Given the description of an element on the screen output the (x, y) to click on. 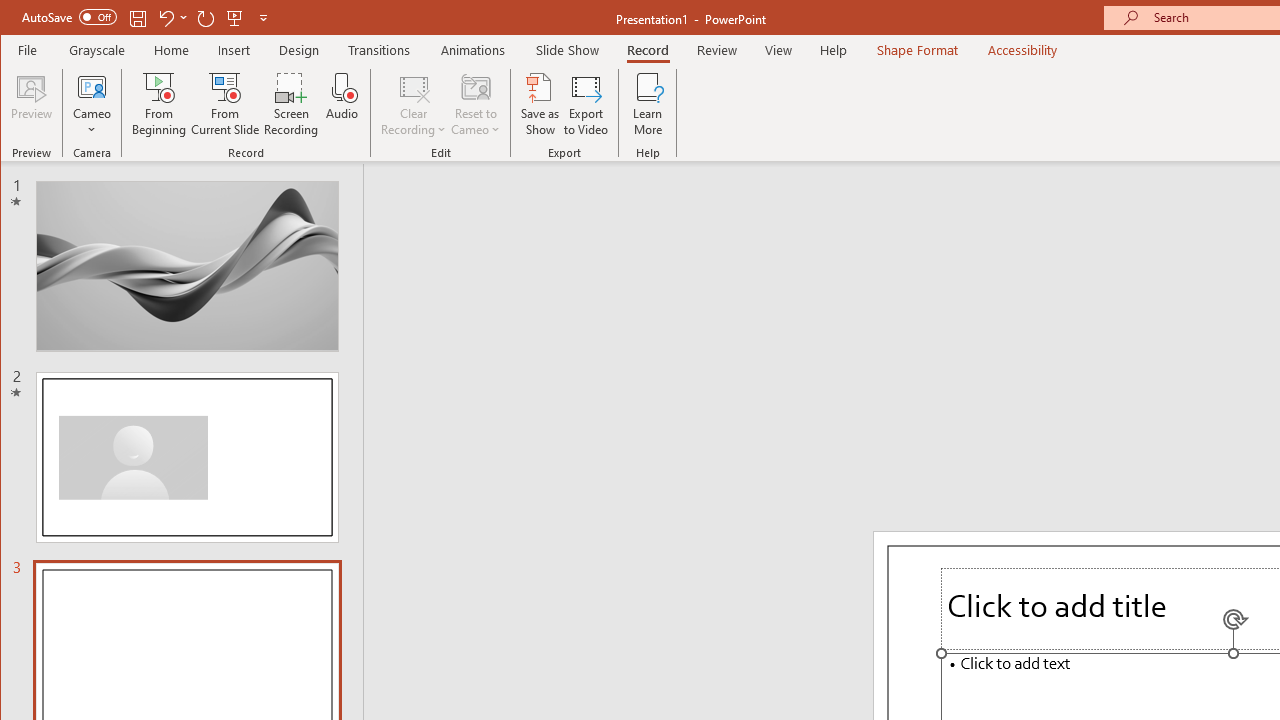
Screen Recording (291, 104)
Learn More (648, 104)
